Given the description of an element on the screen output the (x, y) to click on. 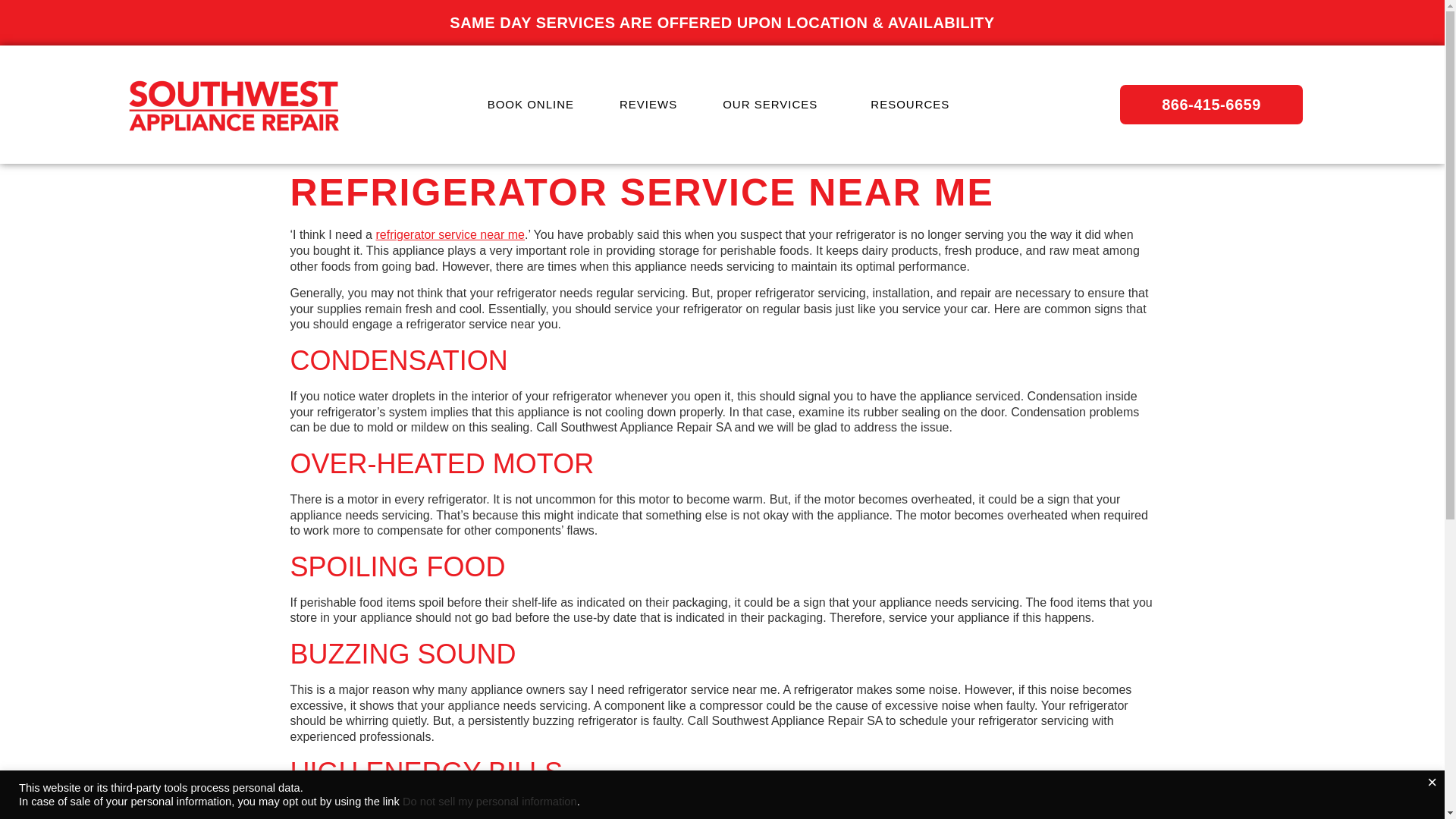
refrigerator service near me (449, 234)
OUR SERVICES (773, 104)
RESOURCES (913, 104)
866-415-6659 (1211, 104)
REVIEWS (648, 104)
BOOK ONLINE (530, 104)
